Given the description of an element on the screen output the (x, y) to click on. 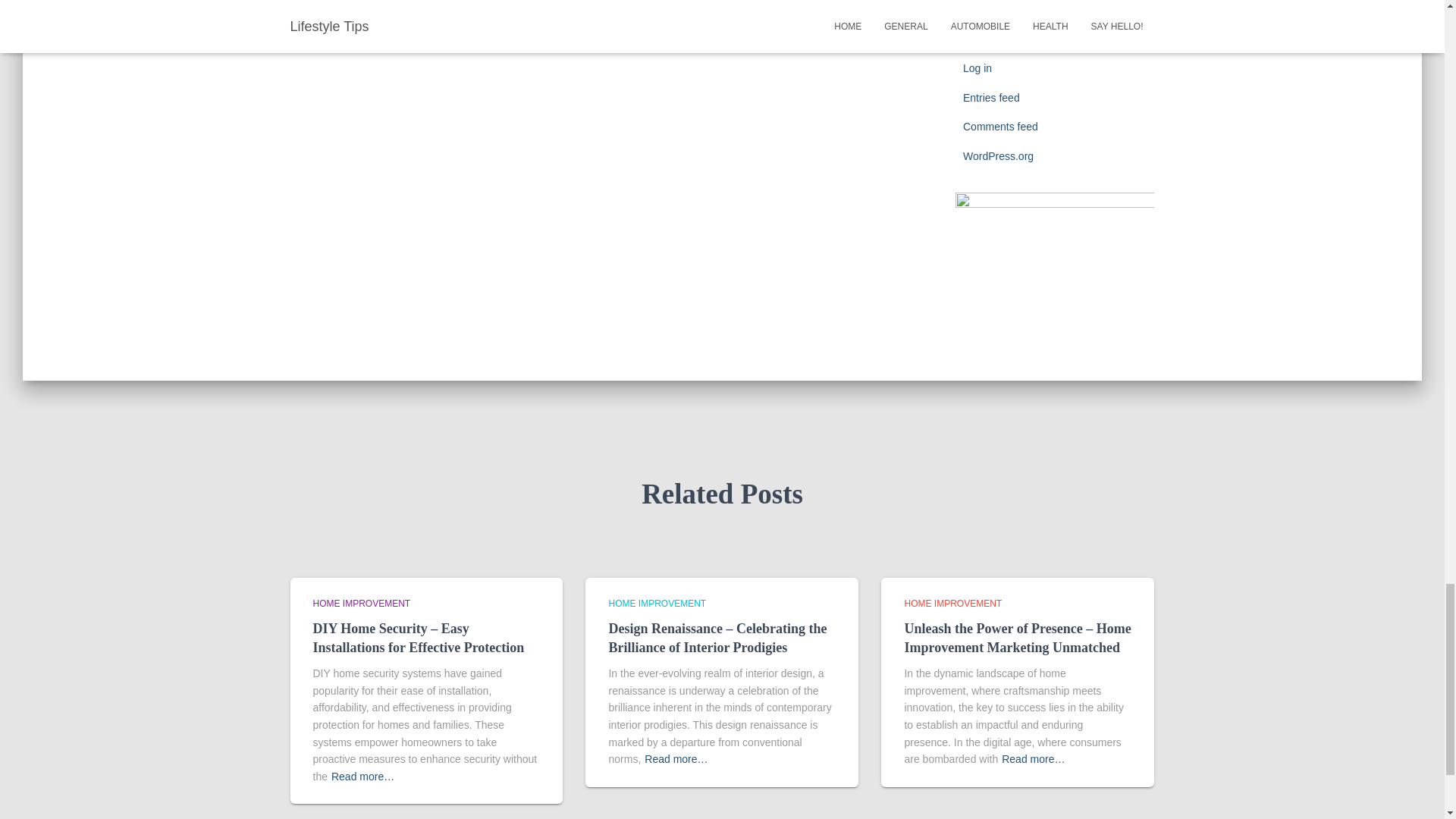
View all posts in Home Improvement (657, 603)
View all posts in Home Improvement (952, 603)
View all posts in Home Improvement (361, 603)
